Given the description of an element on the screen output the (x, y) to click on. 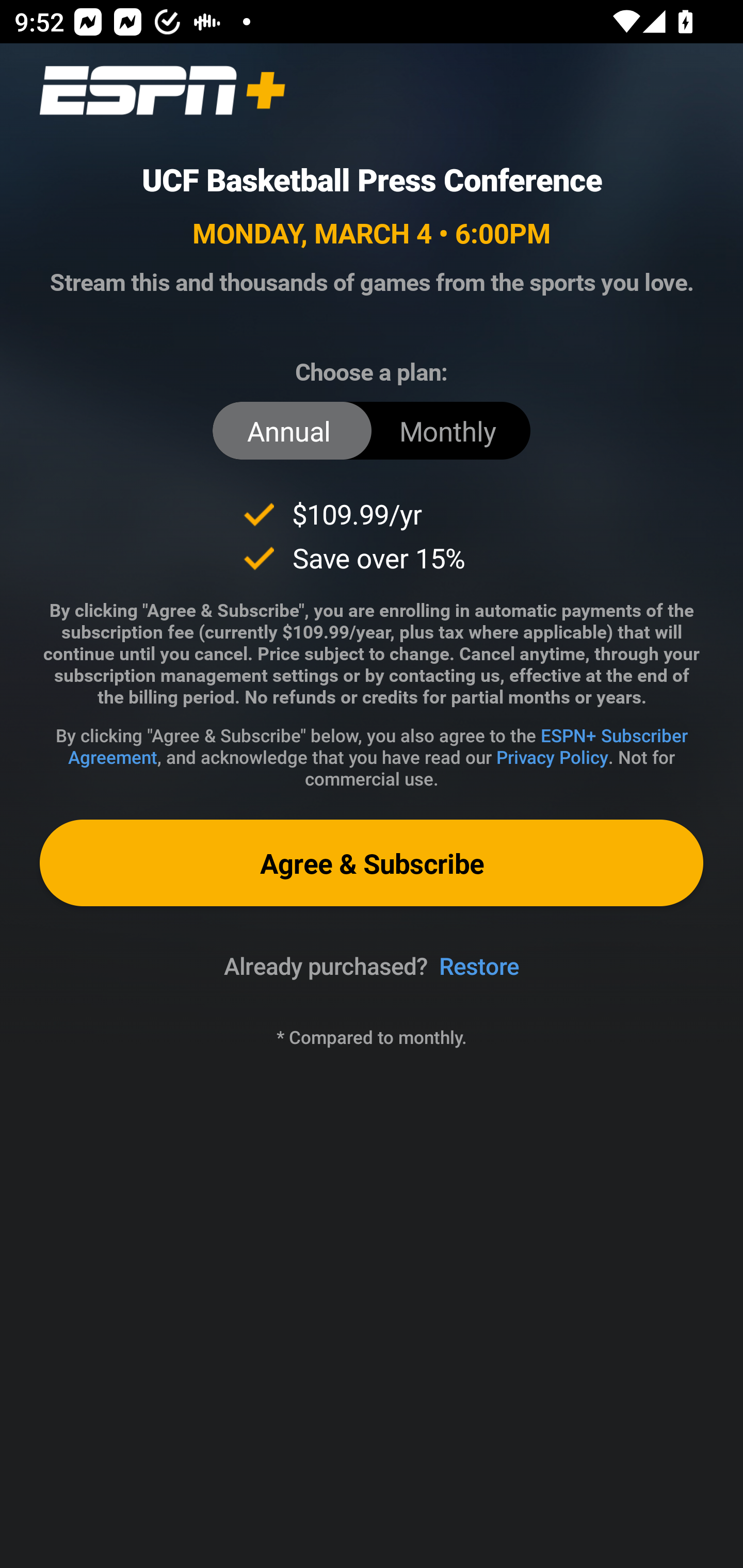
Agree & Subscribe (371, 863)
